Given the description of an element on the screen output the (x, y) to click on. 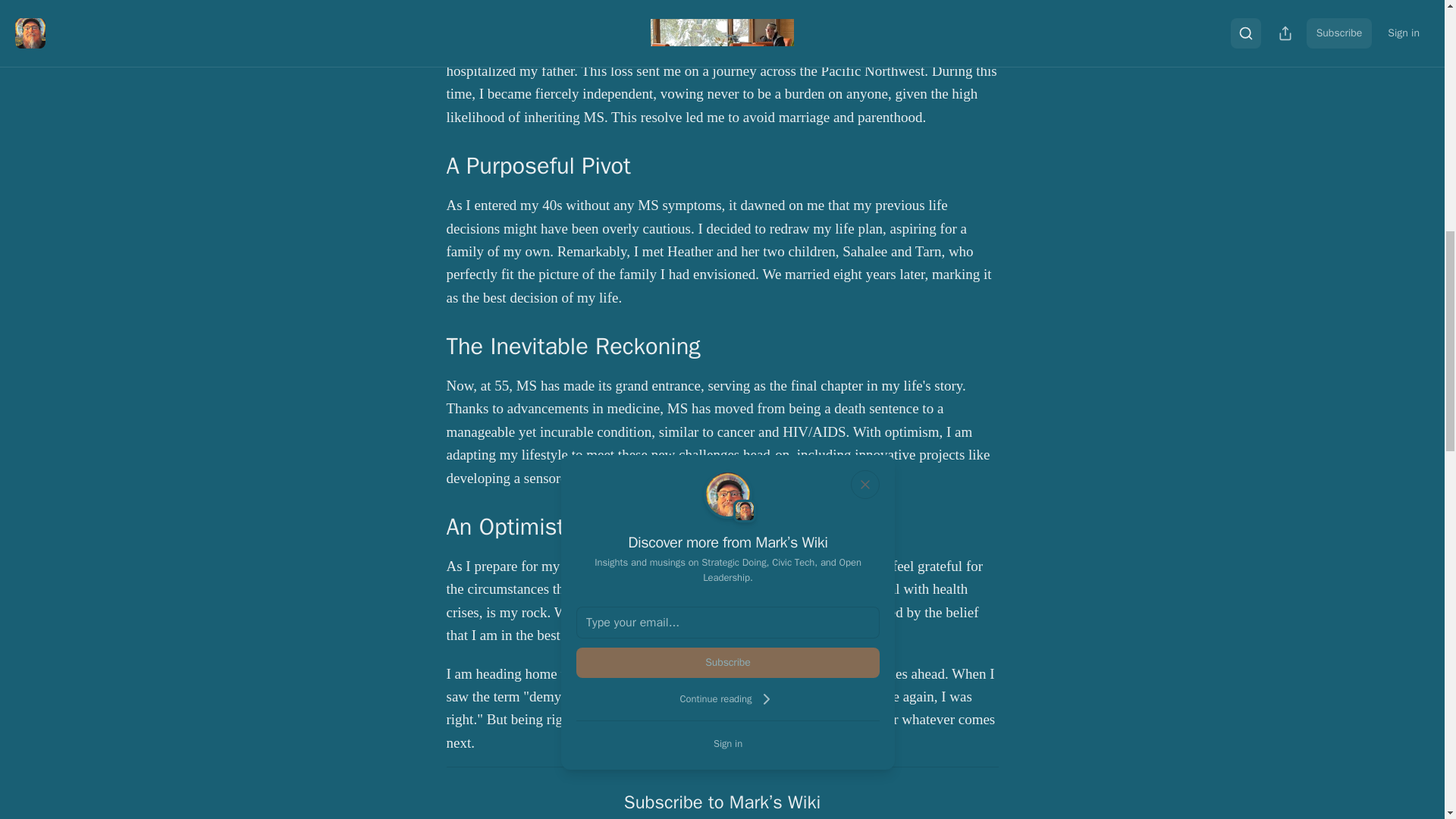
Subscribe (727, 662)
Sign in (727, 743)
